Given the description of an element on the screen output the (x, y) to click on. 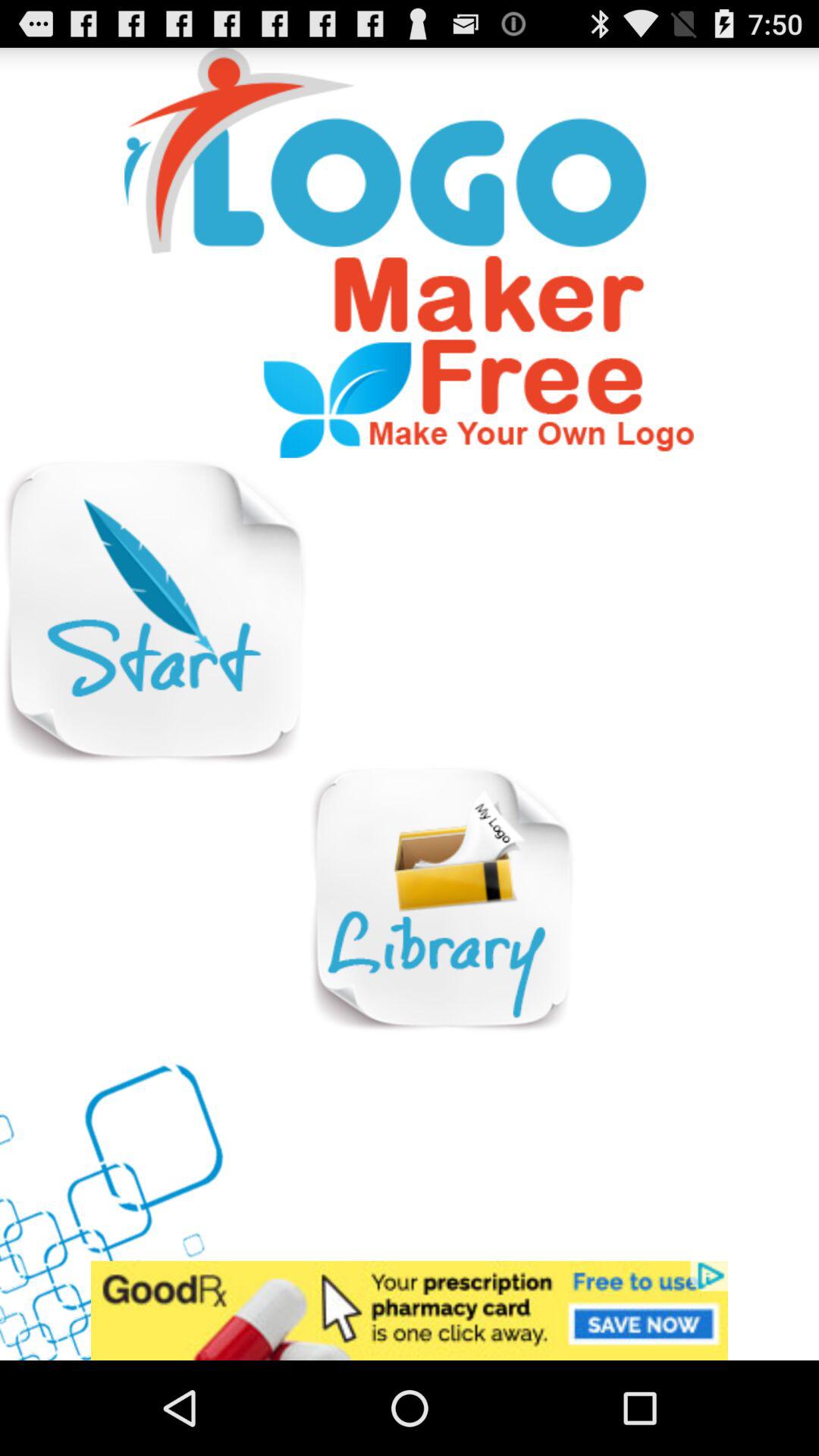
start option (153, 611)
